Given the description of an element on the screen output the (x, y) to click on. 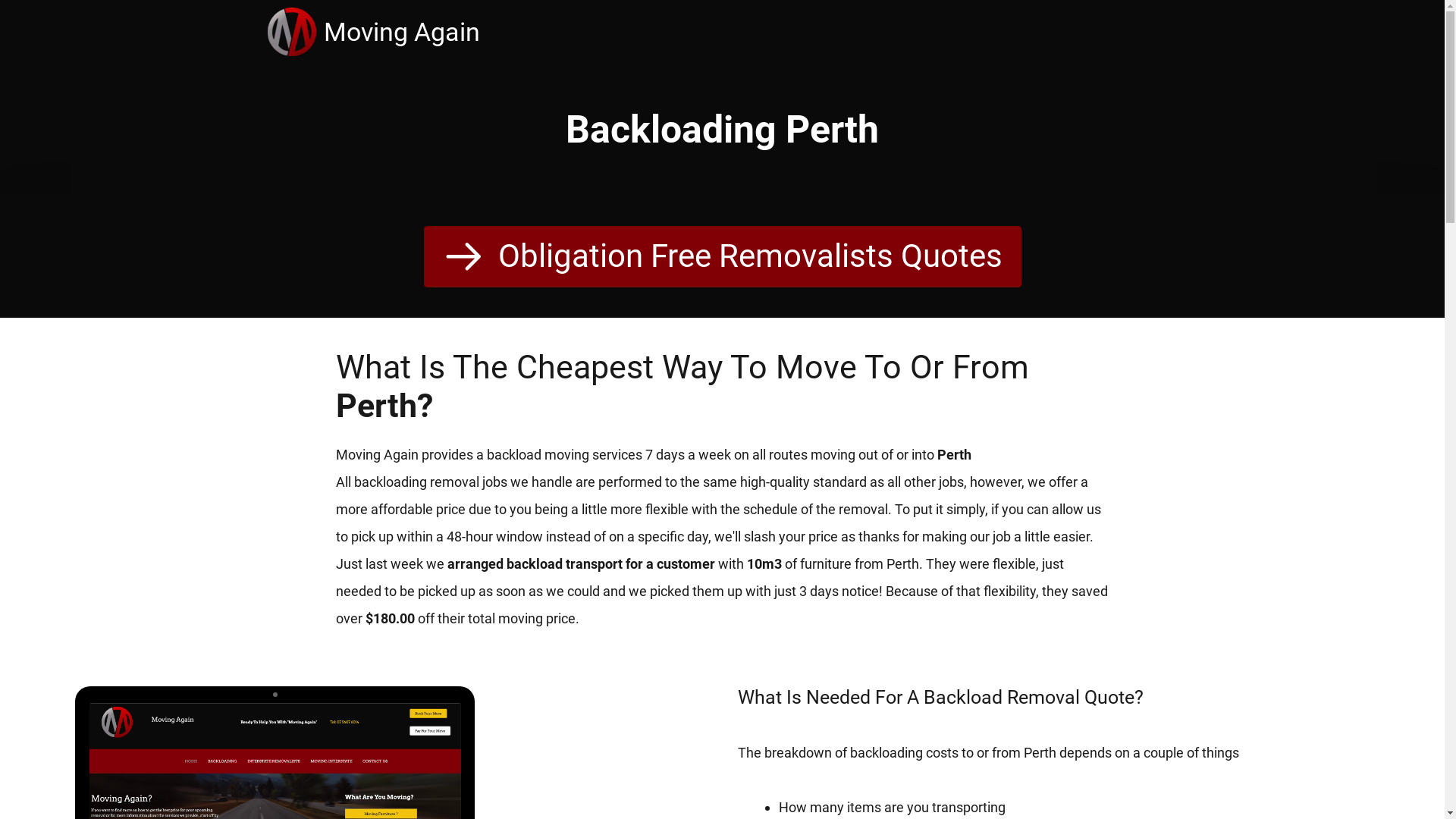
Moving Again Element type: text (401, 31)
Obligation Free Removalists Quotes Element type: text (721, 256)
Moving Again Element type: hover (294, 31)
